Given the description of an element on the screen output the (x, y) to click on. 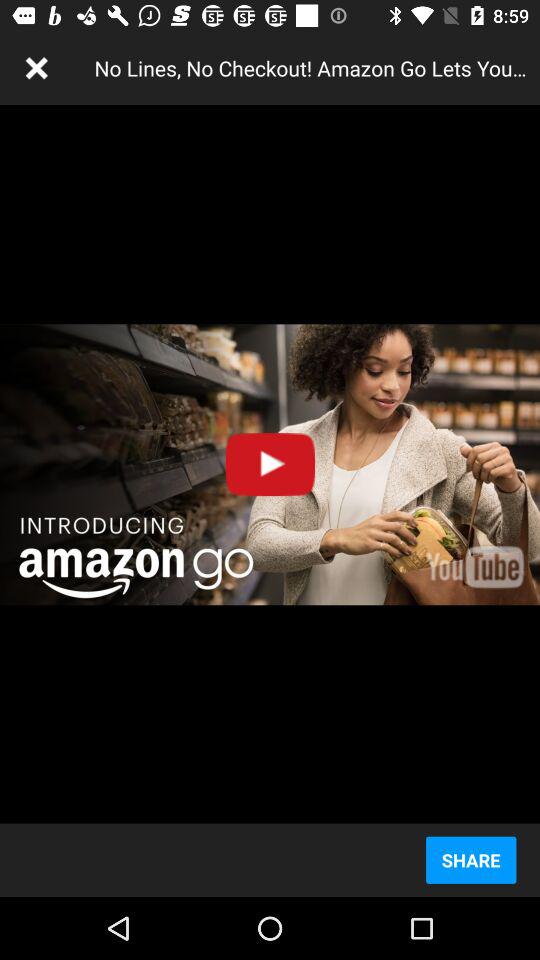
turn off share item (470, 859)
